Given the description of an element on the screen output the (x, y) to click on. 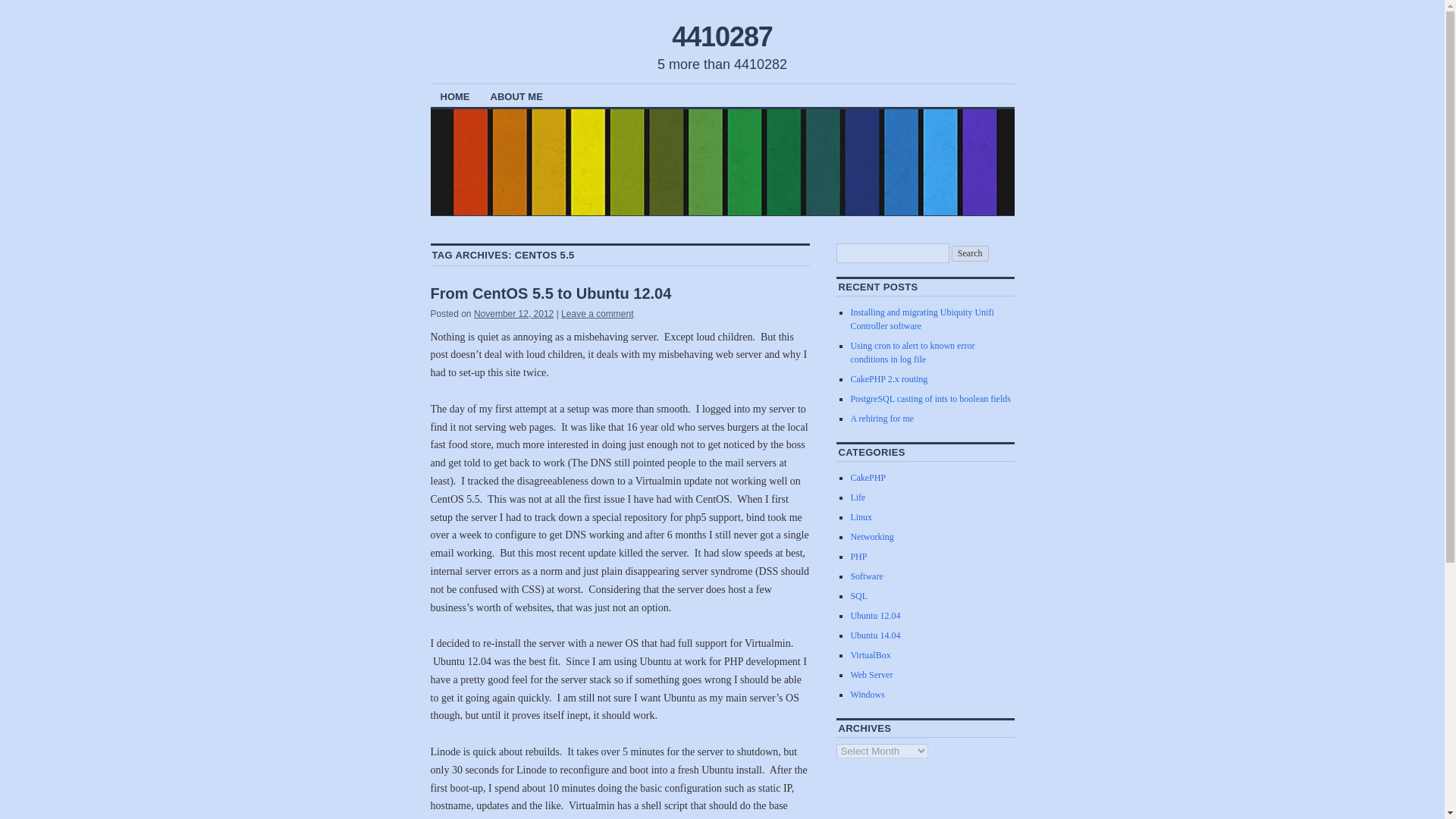
CakePHP (867, 477)
Networking (871, 536)
Ubuntu 14.04 (874, 634)
Leave a comment (596, 313)
From CentOS 5.5 to Ubuntu 12.04 (550, 293)
Ubuntu 12.04 (874, 615)
ABOUT ME (516, 96)
Linux (861, 516)
Web Server (871, 674)
4410287 (722, 36)
